Given the description of an element on the screen output the (x, y) to click on. 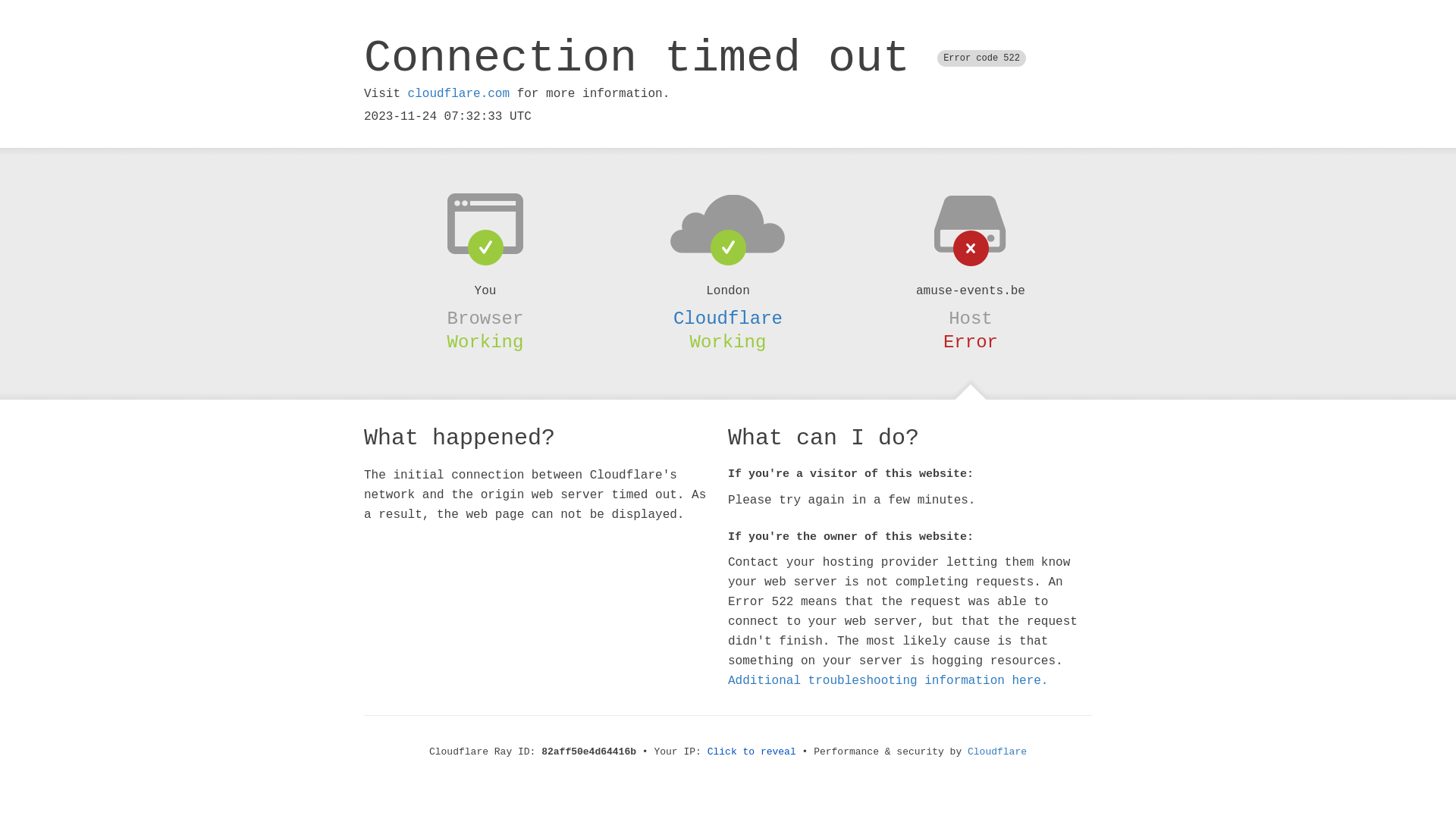
Additional troubleshooting information here. Element type: text (888, 680)
Cloudflare Element type: text (996, 751)
cloudflare.com Element type: text (458, 93)
Click to reveal Element type: text (751, 751)
Cloudflare Element type: text (727, 318)
